Given the description of an element on the screen output the (x, y) to click on. 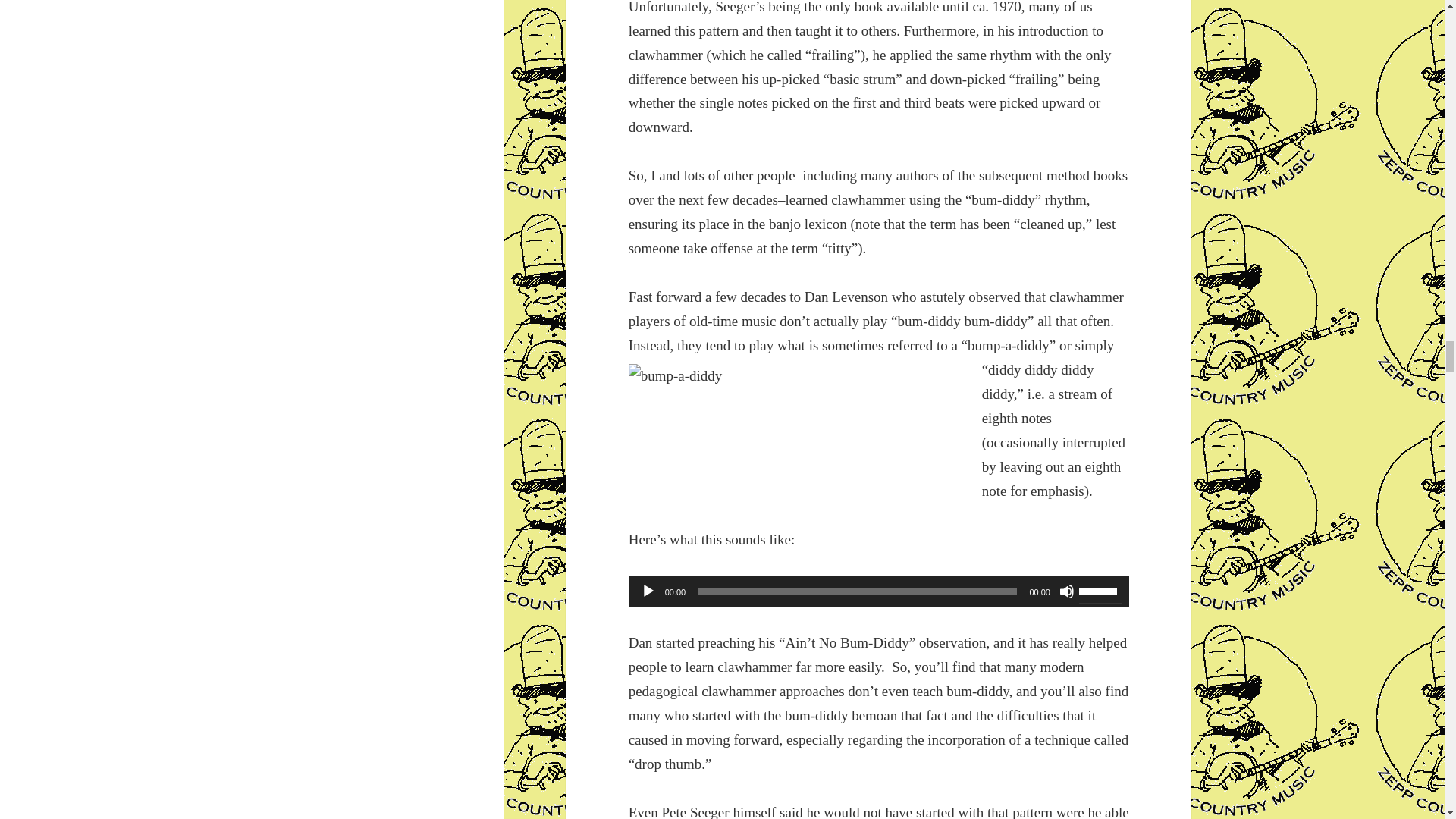
Play (648, 590)
Mute (1066, 590)
